Given the description of an element on the screen output the (x, y) to click on. 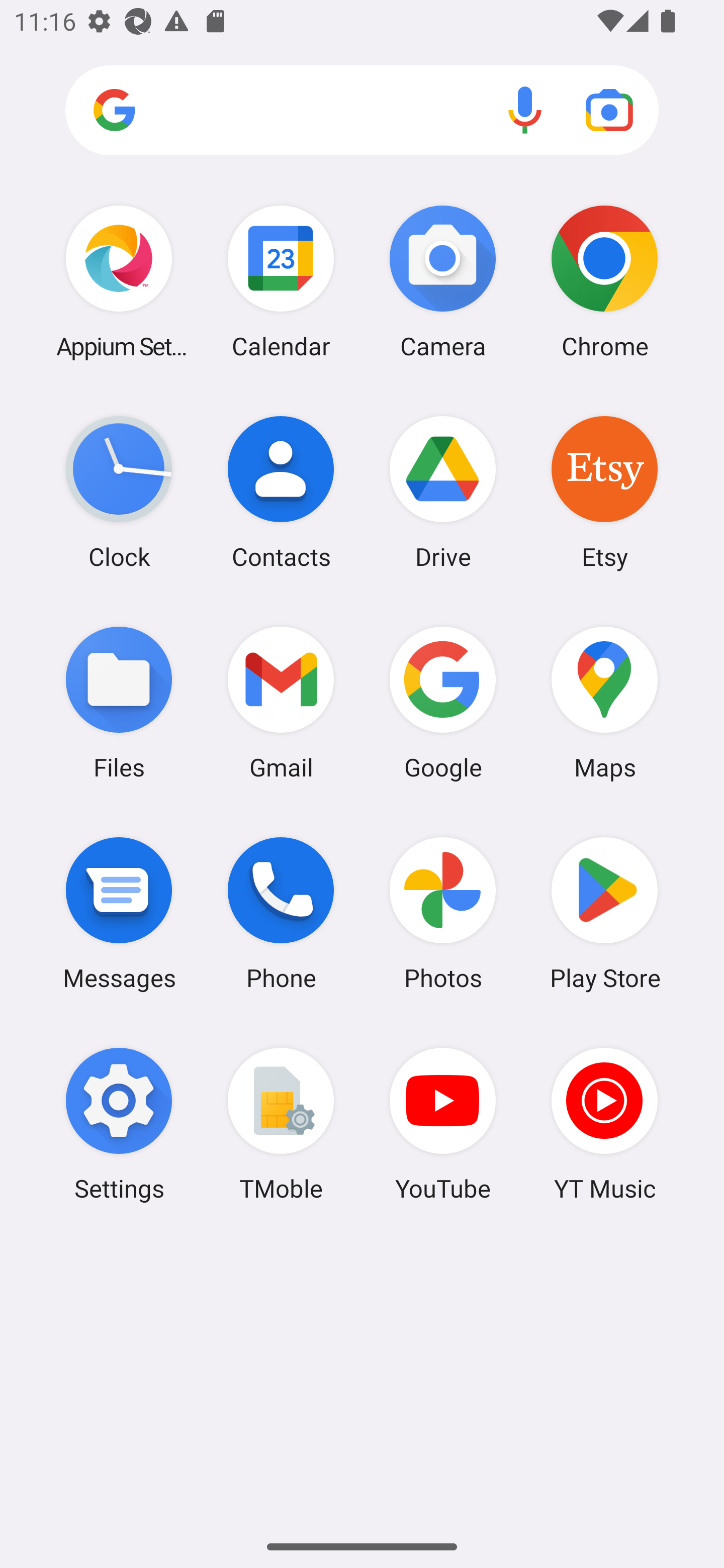
Search apps, web and more (361, 110)
Voice search (524, 109)
Google Lens (608, 109)
Appium Settings (118, 281)
Calendar (280, 281)
Camera (443, 281)
Chrome (604, 281)
Clock (118, 492)
Contacts (280, 492)
Drive (443, 492)
Etsy (604, 492)
Files (118, 702)
Gmail (280, 702)
Google (443, 702)
Maps (604, 702)
Messages (118, 913)
Phone (280, 913)
Photos (443, 913)
Play Store (604, 913)
Settings (118, 1124)
TMoble (280, 1124)
YouTube (443, 1124)
YT Music (604, 1124)
